Given the description of an element on the screen output the (x, y) to click on. 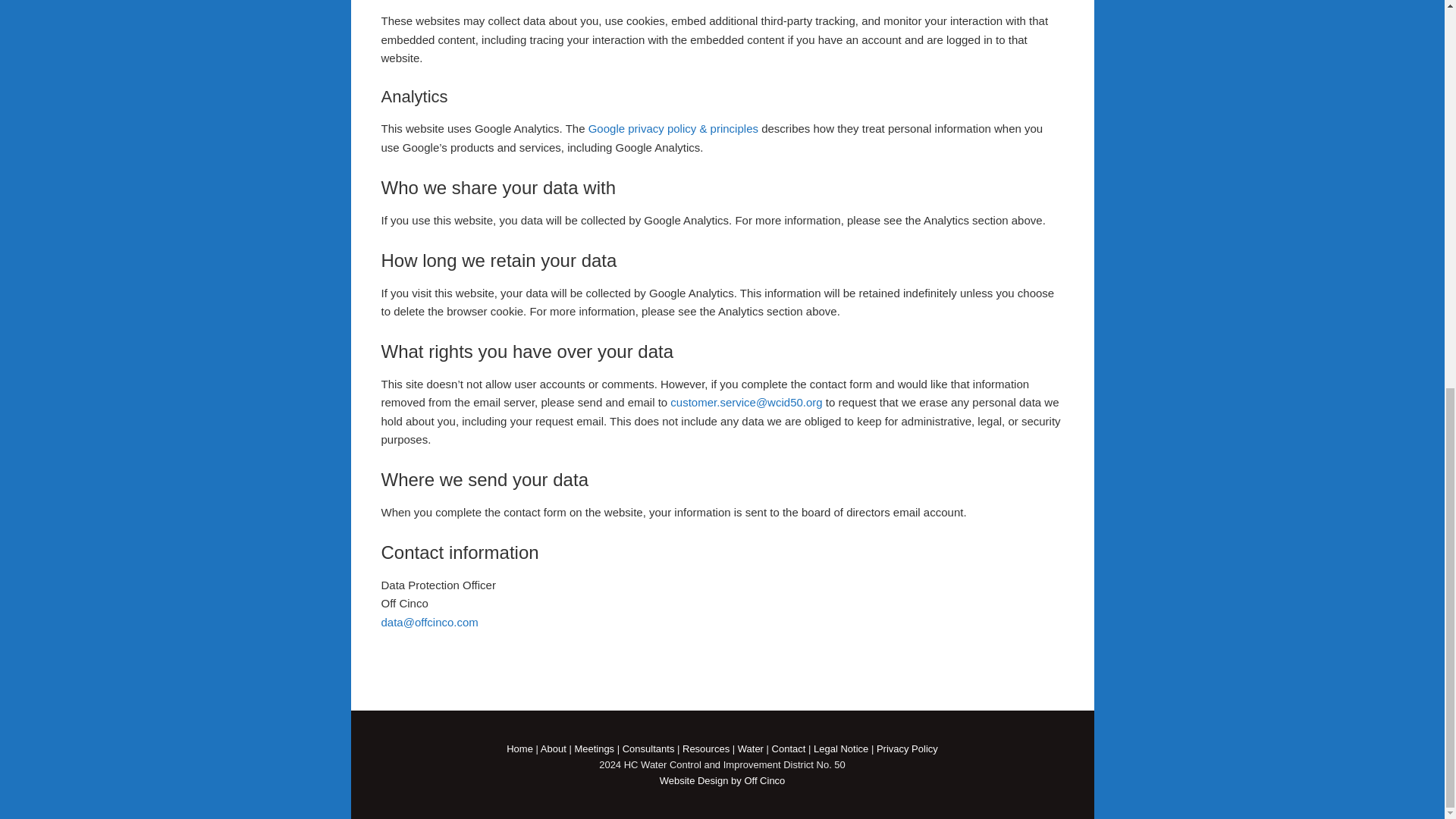
Legal Notice (840, 748)
Water (750, 748)
Consultants (649, 748)
Home (519, 748)
About (553, 748)
Meetings (593, 748)
Contact (788, 748)
Resources (705, 748)
